Given the description of an element on the screen output the (x, y) to click on. 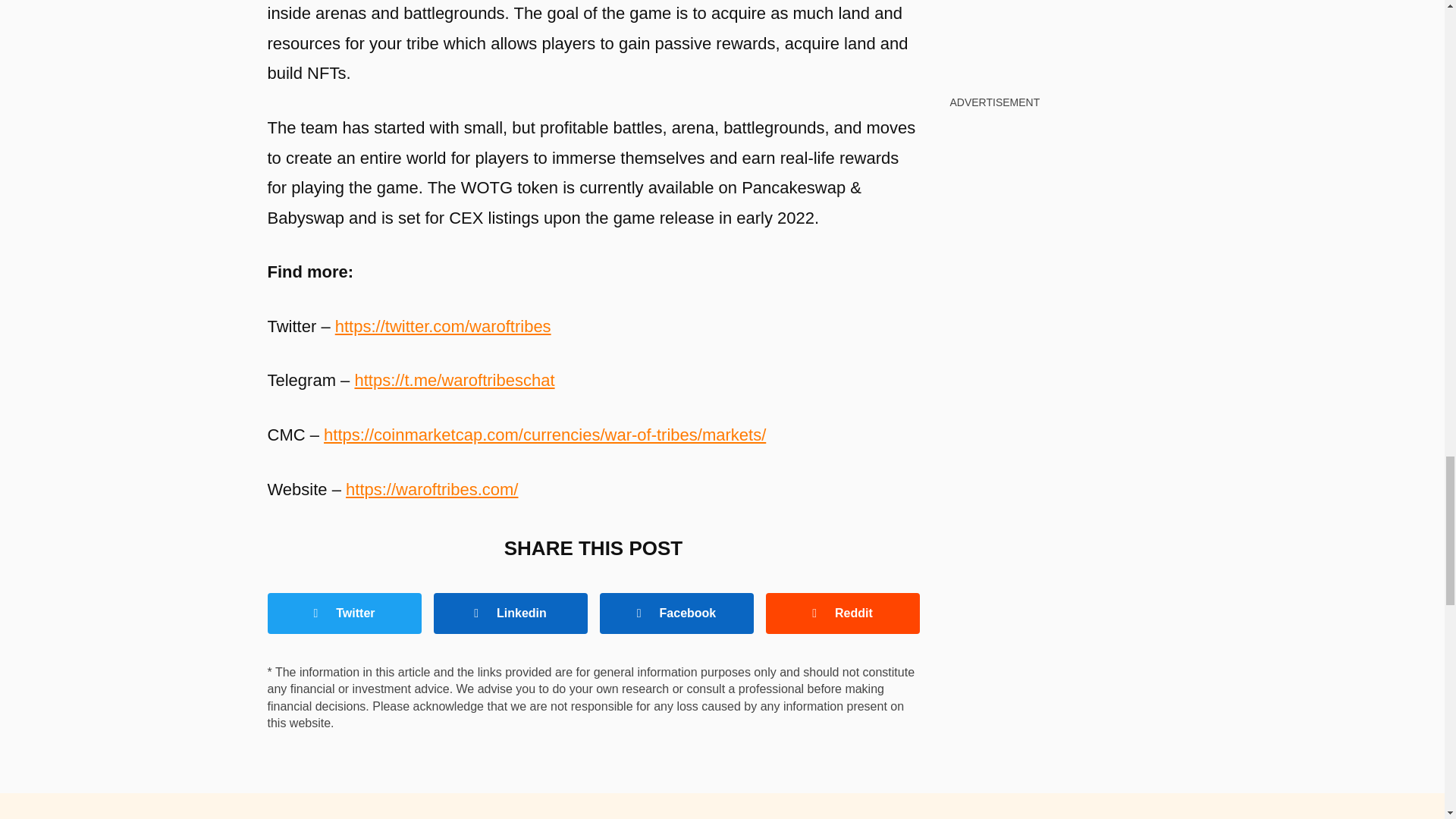
Twitter (343, 612)
Facebook (675, 612)
Reddit (842, 612)
Linkedin (510, 612)
